Given the description of an element on the screen output the (x, y) to click on. 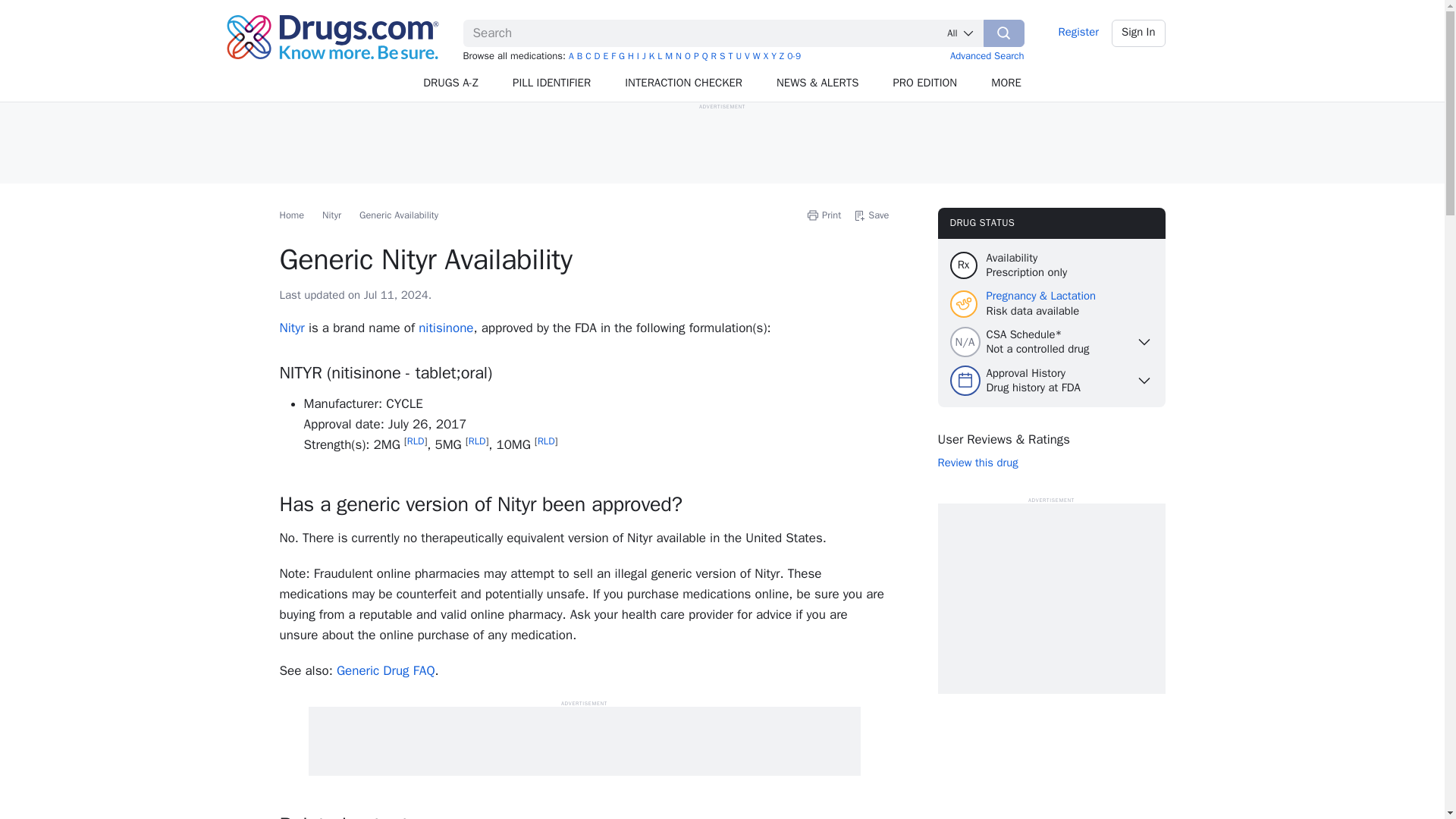
0-9 (793, 55)
PILL IDENTIFIER (551, 83)
DRUGS A-Z (450, 83)
Register (1078, 32)
Sign In (1139, 32)
Search (1004, 32)
Advanced Search (987, 55)
